Given the description of an element on the screen output the (x, y) to click on. 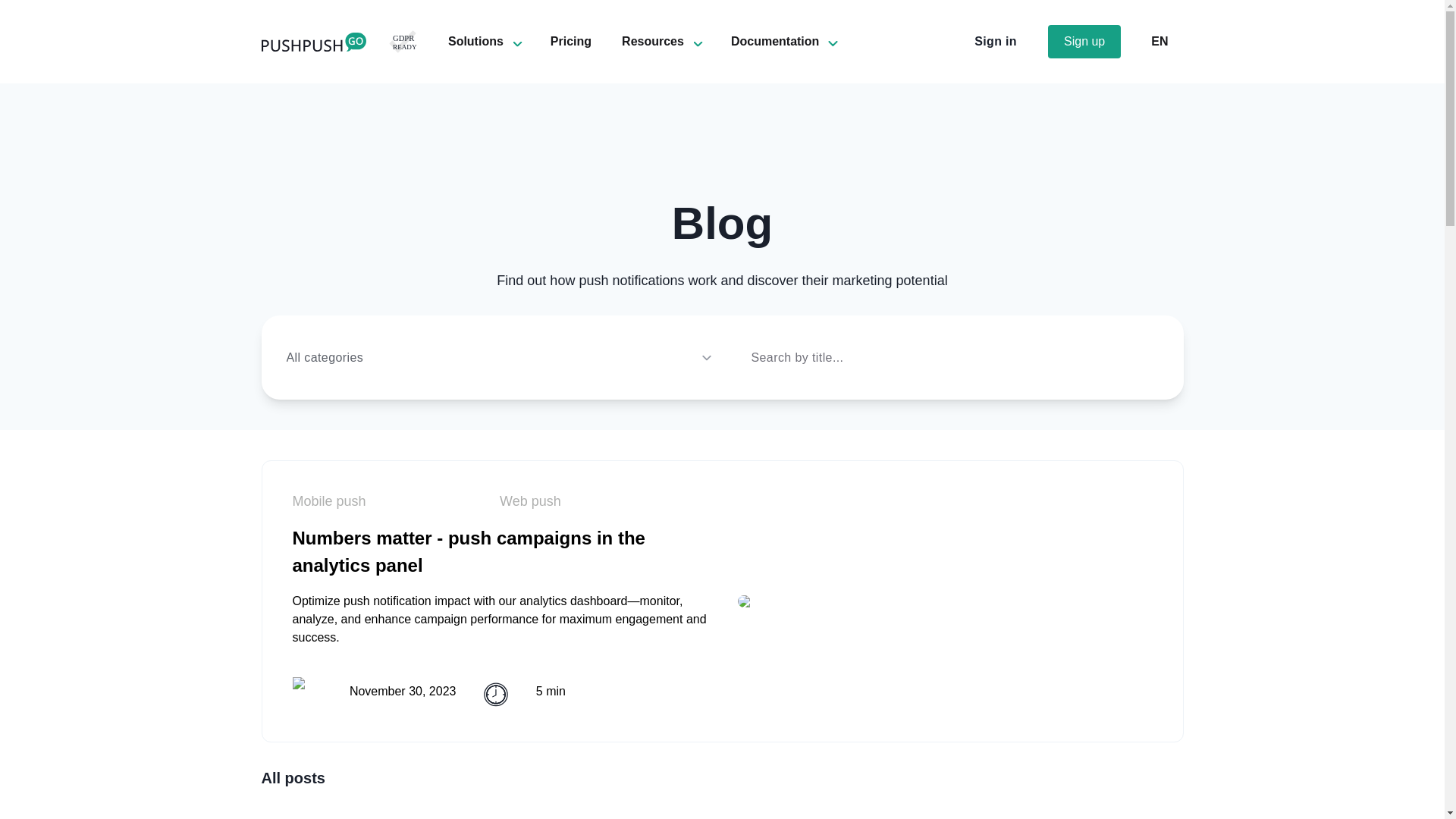
Solutions (475, 41)
Documentation (774, 41)
Sign up (1084, 41)
Sign in (995, 41)
Pricing (570, 41)
EN (1159, 41)
Resources (652, 41)
